Given the description of an element on the screen output the (x, y) to click on. 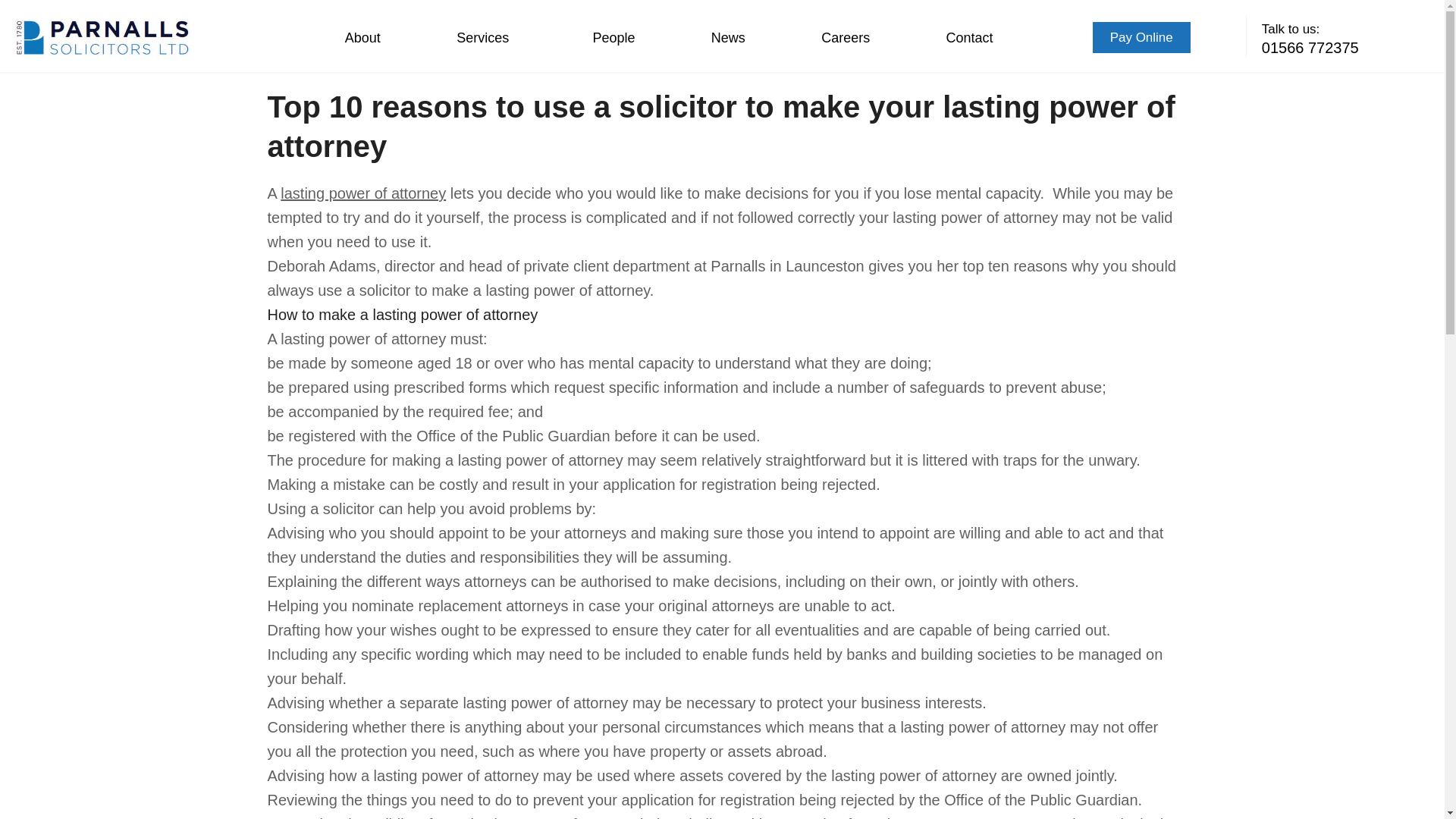
About (362, 37)
Services (486, 37)
